Given the description of an element on the screen output the (x, y) to click on. 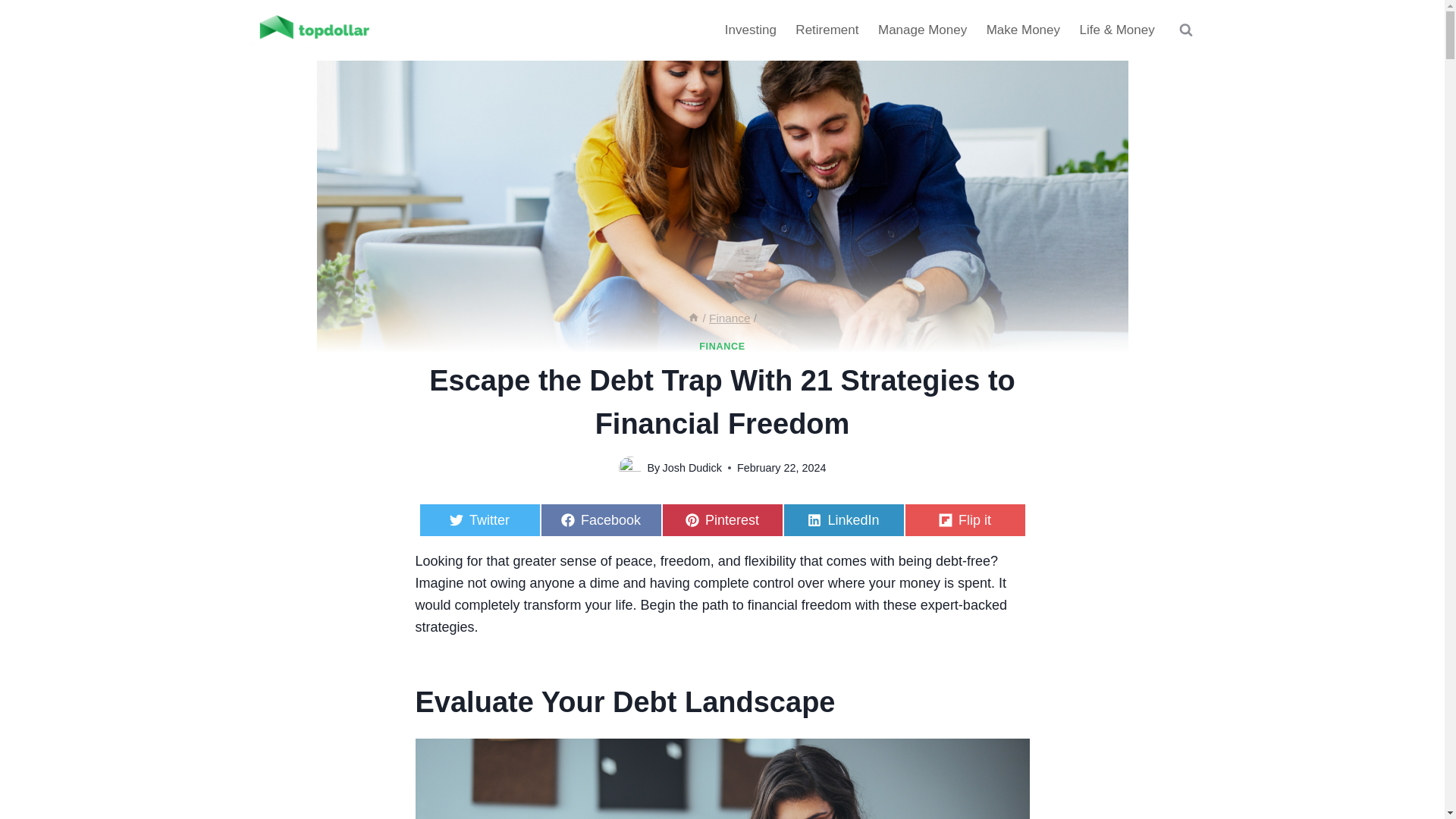
Finance (729, 318)
Make Money (843, 520)
Retirement (722, 520)
FINANCE (1023, 30)
Home (827, 30)
Manage Money (721, 346)
Investing (692, 318)
Josh Dudick (479, 520)
